Given the description of an element on the screen output the (x, y) to click on. 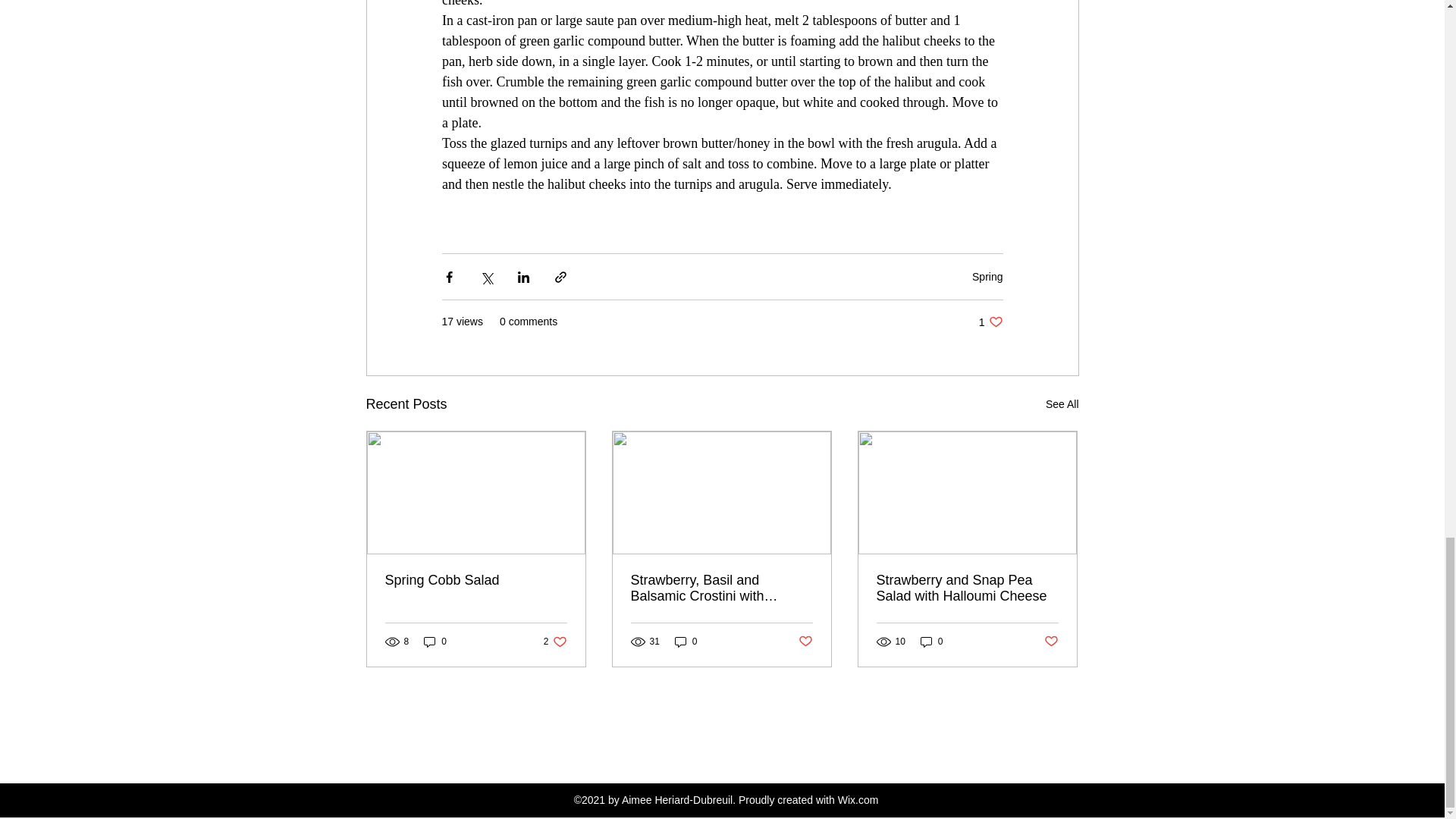
Strawberry and Snap Pea Salad with Halloumi Cheese (967, 588)
Post not marked as liked (1050, 641)
0 (685, 641)
Post not marked as liked (990, 321)
See All (555, 641)
0 (804, 641)
Spring (1061, 404)
Strawberry, Basil and Balsamic Crostini with Whipped Feta (435, 641)
